Given the description of an element on the screen output the (x, y) to click on. 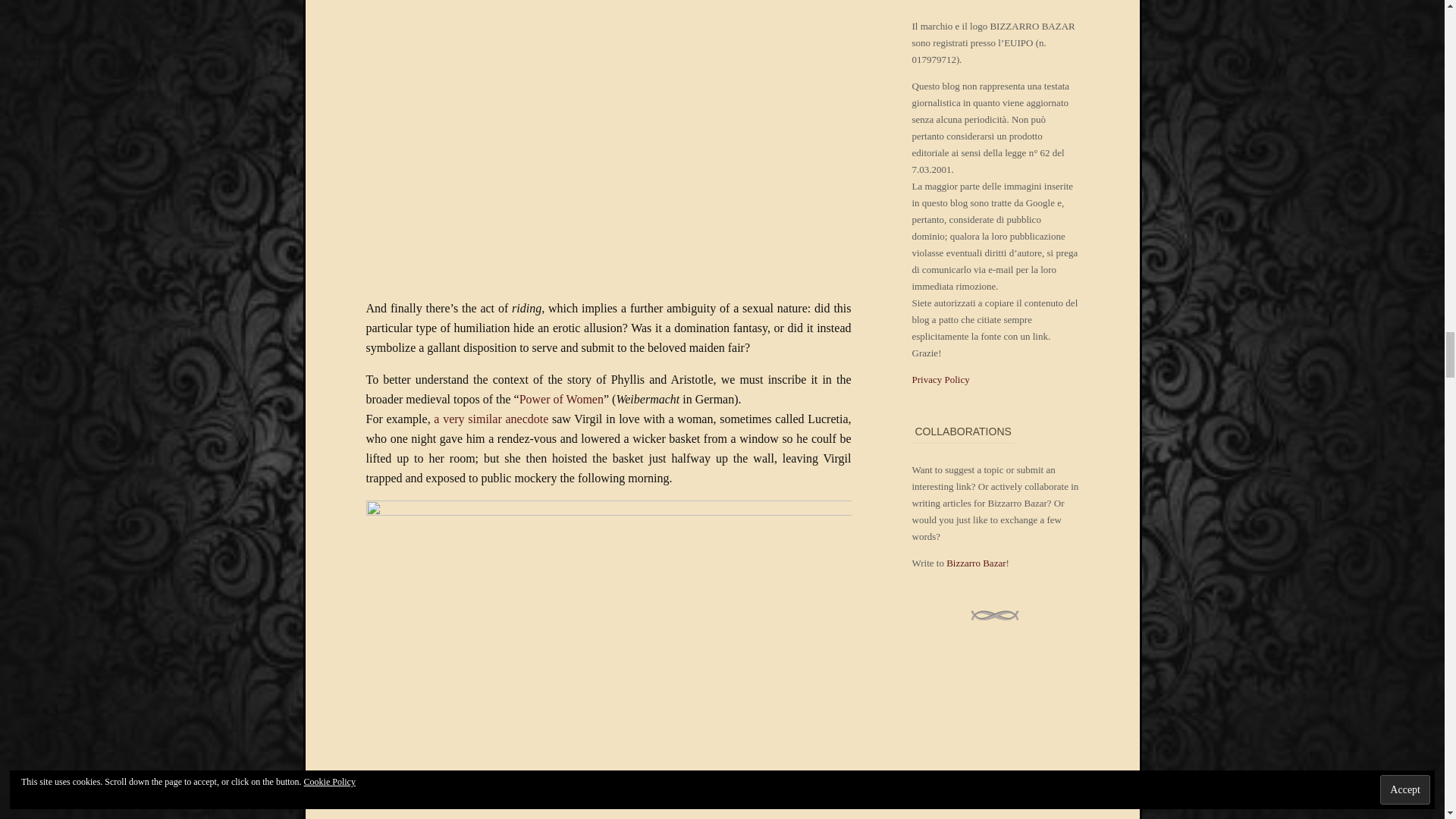
Power of Women (561, 399)
a very similar anecdote (489, 418)
